Given the description of an element on the screen output the (x, y) to click on. 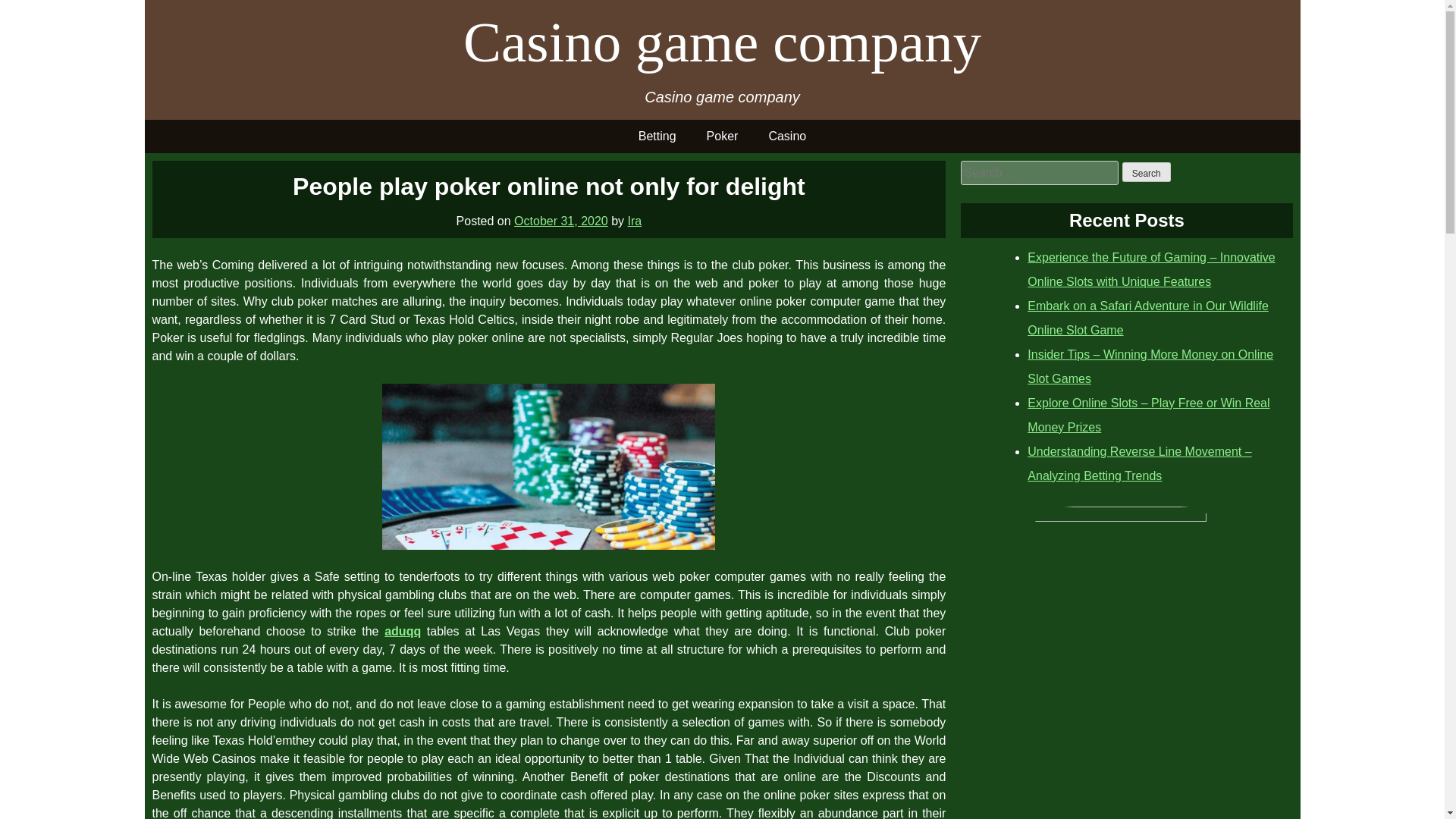
Betting (657, 136)
Ira (634, 219)
Casino (786, 136)
Poker (722, 136)
October 31, 2020 (560, 219)
aduqq (402, 631)
Search (1146, 171)
Search (1146, 171)
Casino game company (722, 41)
Search (1146, 171)
